Given the description of an element on the screen output the (x, y) to click on. 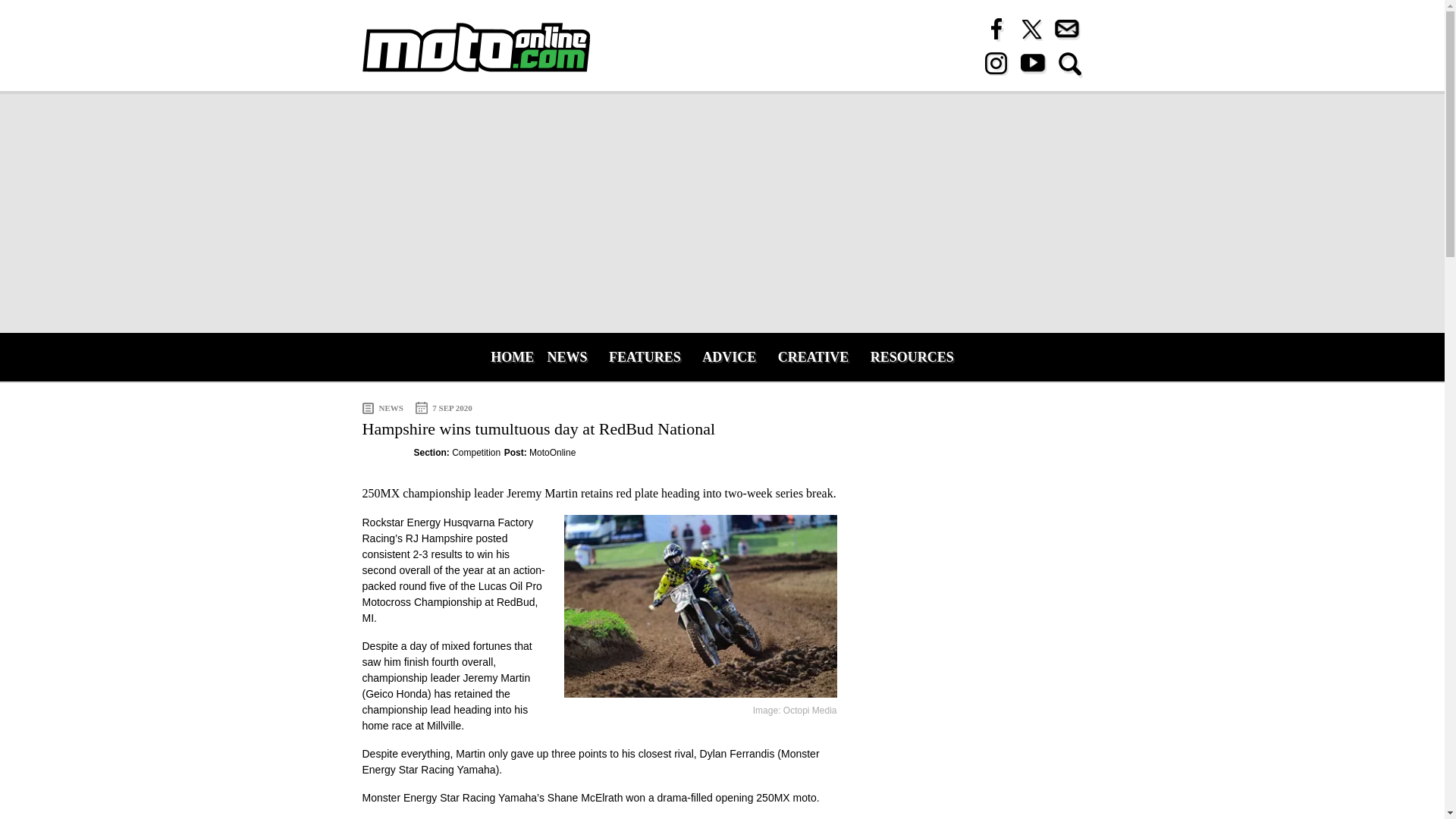
ADVICE (729, 356)
Home (475, 47)
FEATURES (644, 356)
CREATIVE (813, 356)
NEWS (567, 356)
HOME (507, 356)
RESOURCES (911, 356)
